Given the description of an element on the screen output the (x, y) to click on. 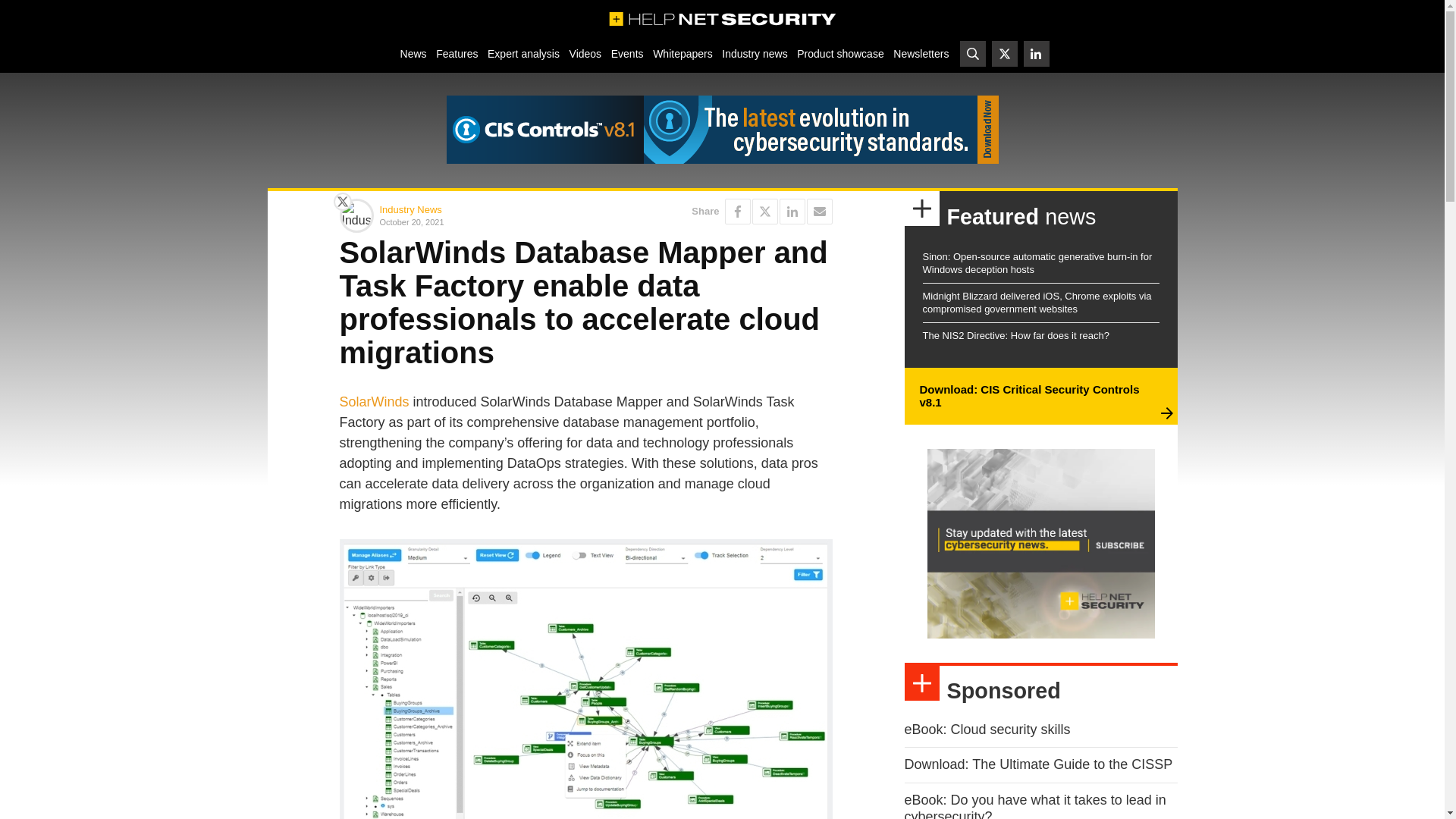
Industry news (754, 53)
Industry News (409, 209)
Expert analysis (523, 53)
SolarWinds (374, 401)
Whitepapers (682, 53)
Newsletters (920, 53)
Videos (584, 53)
